Given the description of an element on the screen output the (x, y) to click on. 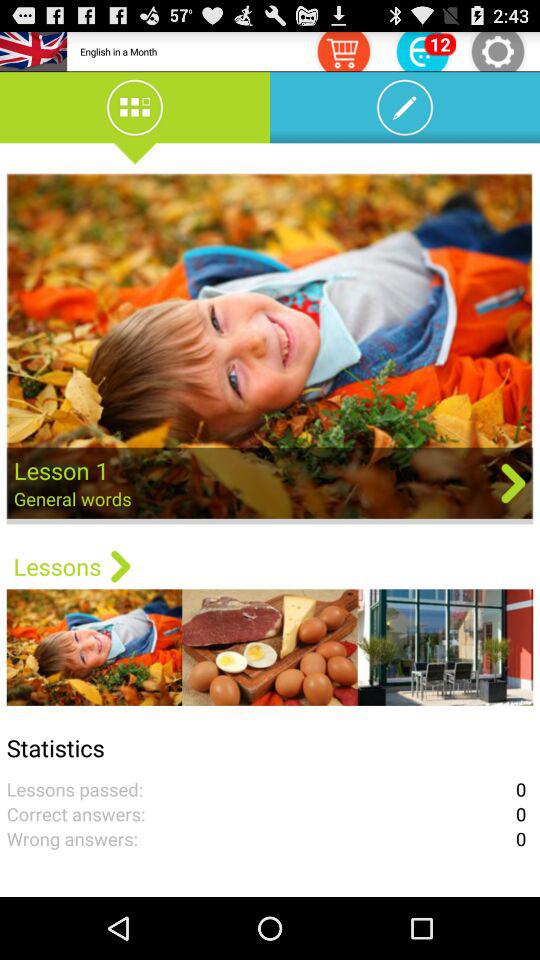
share a lesson (269, 348)
